Given the description of an element on the screen output the (x, y) to click on. 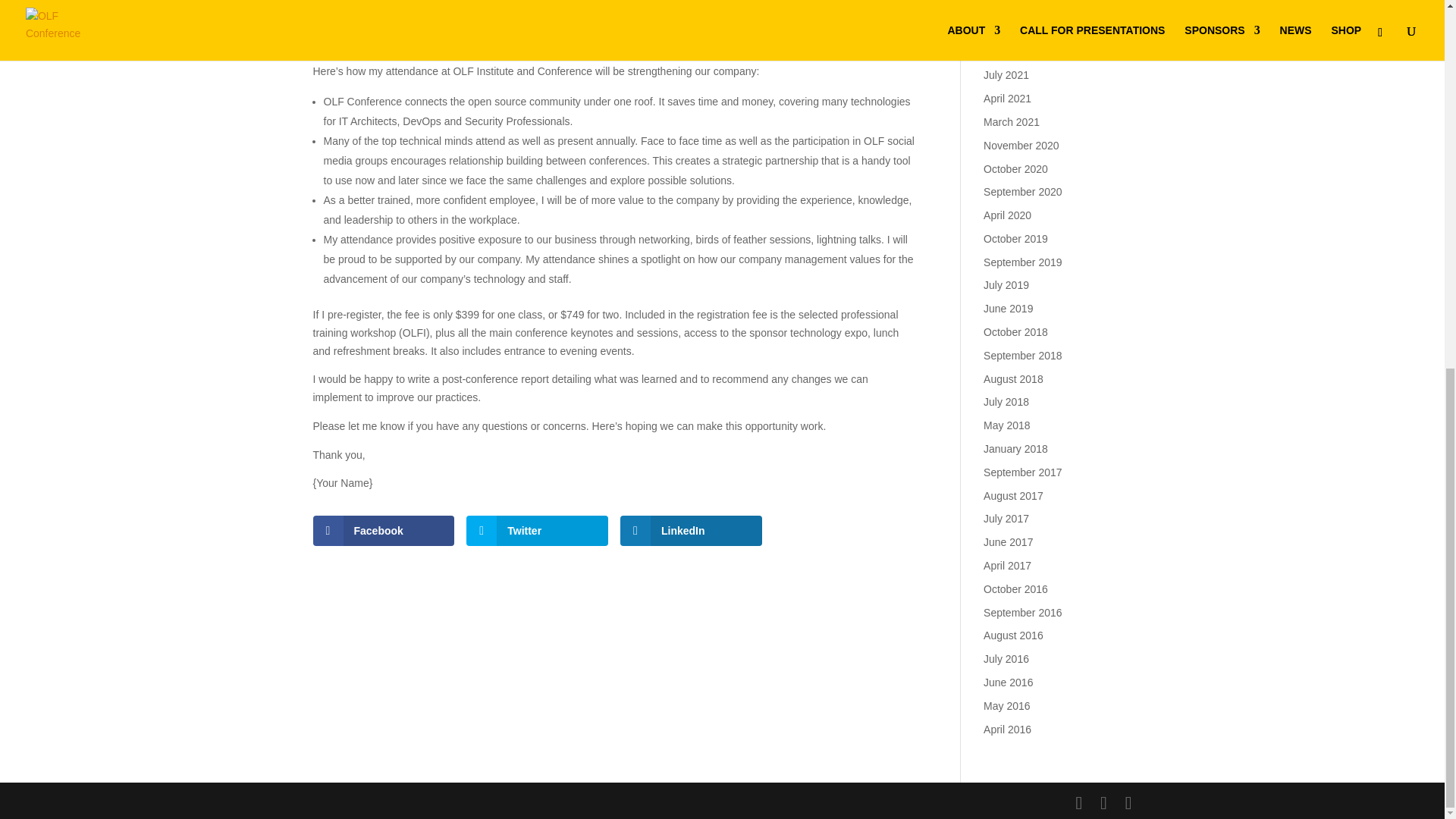
LinkedIn (690, 530)
December 2021 (1021, 5)
Twitter (536, 530)
July 2021 (1006, 74)
November 2021 (1021, 28)
October 2021 (1016, 51)
Facebook (383, 530)
